Given the description of an element on the screen output the (x, y) to click on. 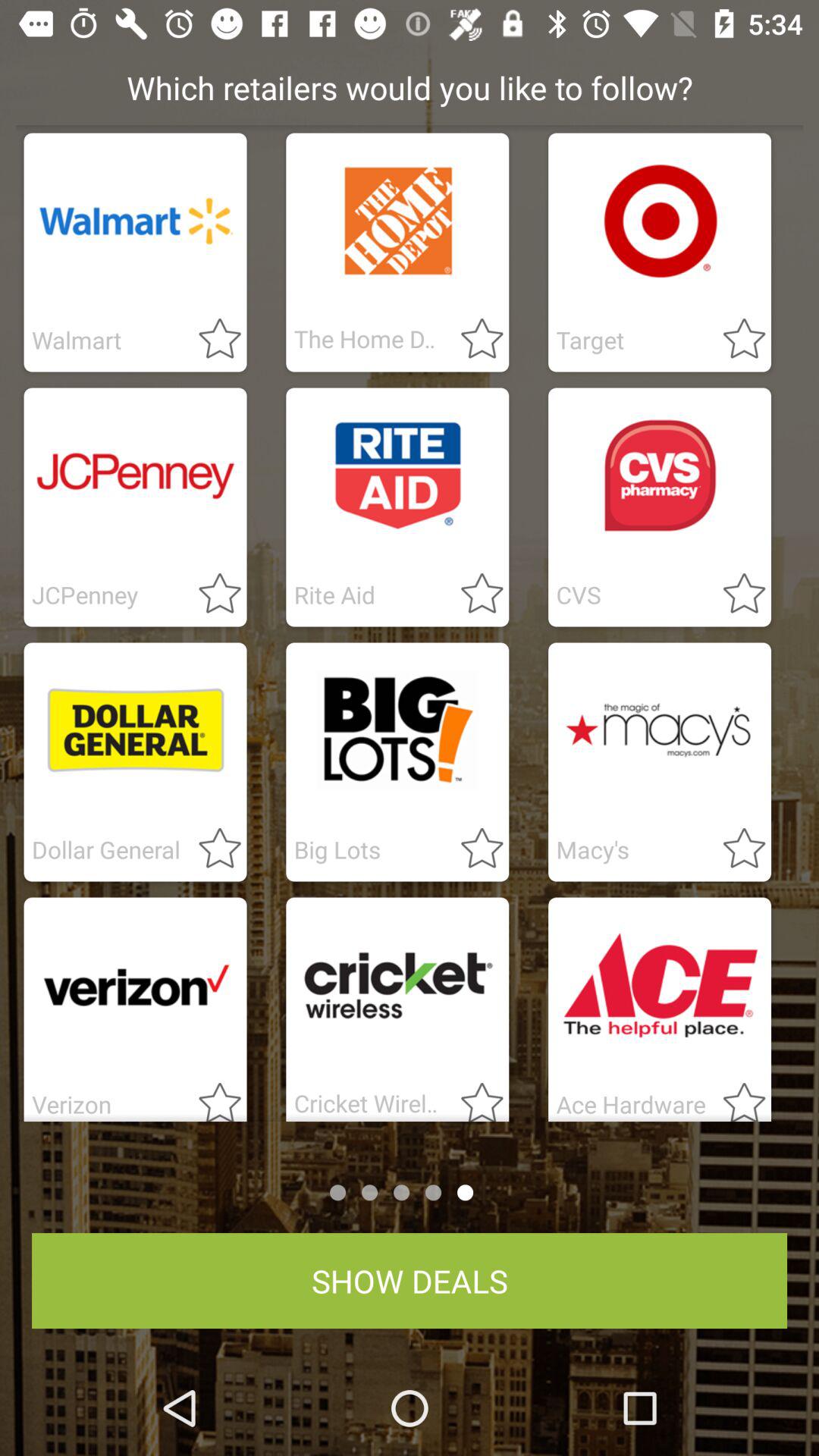
click to like (210, 594)
